Given the description of an element on the screen output the (x, y) to click on. 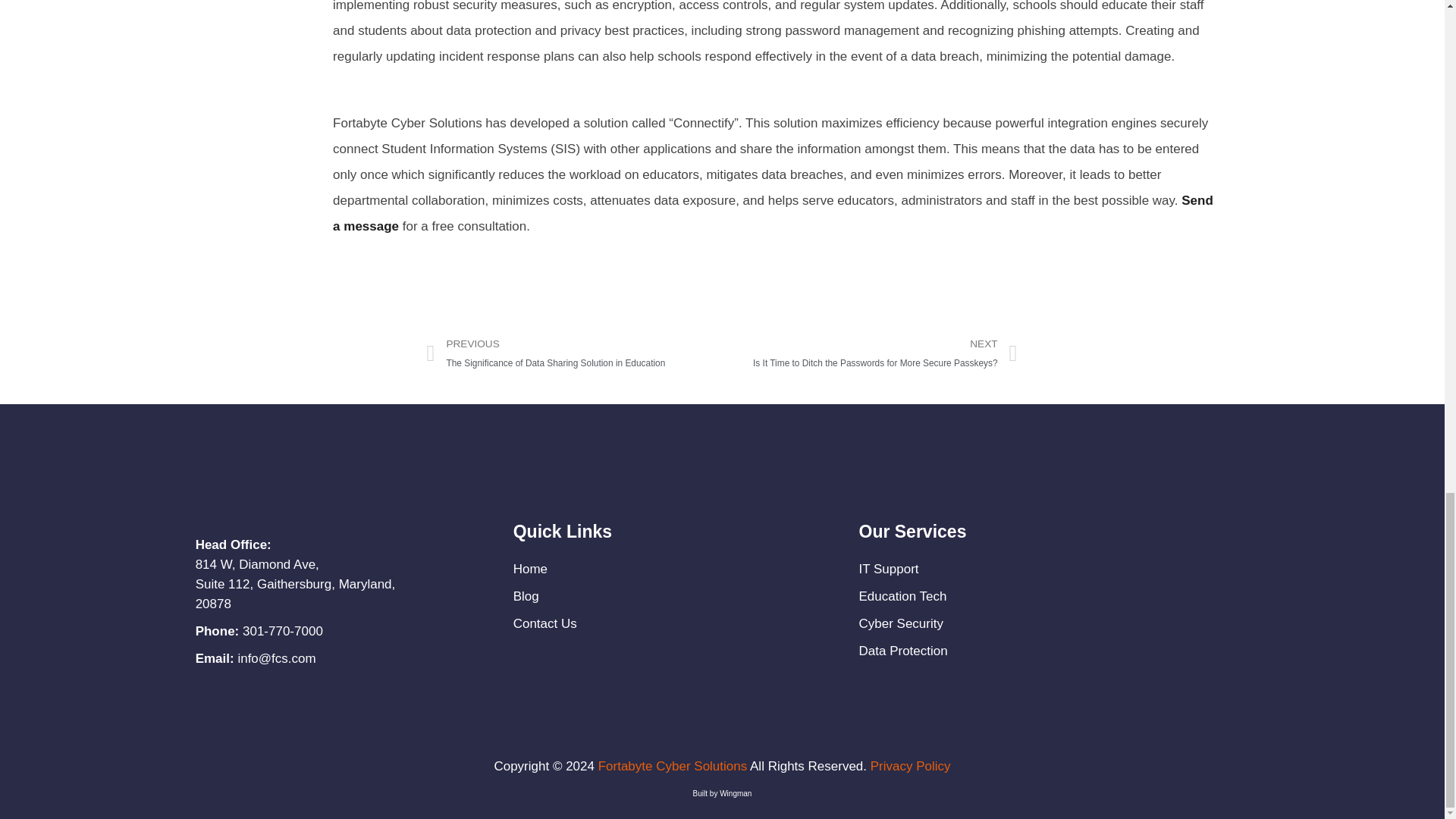
Send a message (772, 213)
Built by Wingman (722, 793)
Data Protection (903, 650)
Education Tech (902, 595)
Contact Us (544, 623)
Home (530, 568)
Fortabyte Cyber Solutions (673, 766)
Cyber Security  (902, 623)
Phone: 301-770-7000 (259, 631)
Blog (525, 595)
IT Support (888, 568)
